Given the description of an element on the screen output the (x, y) to click on. 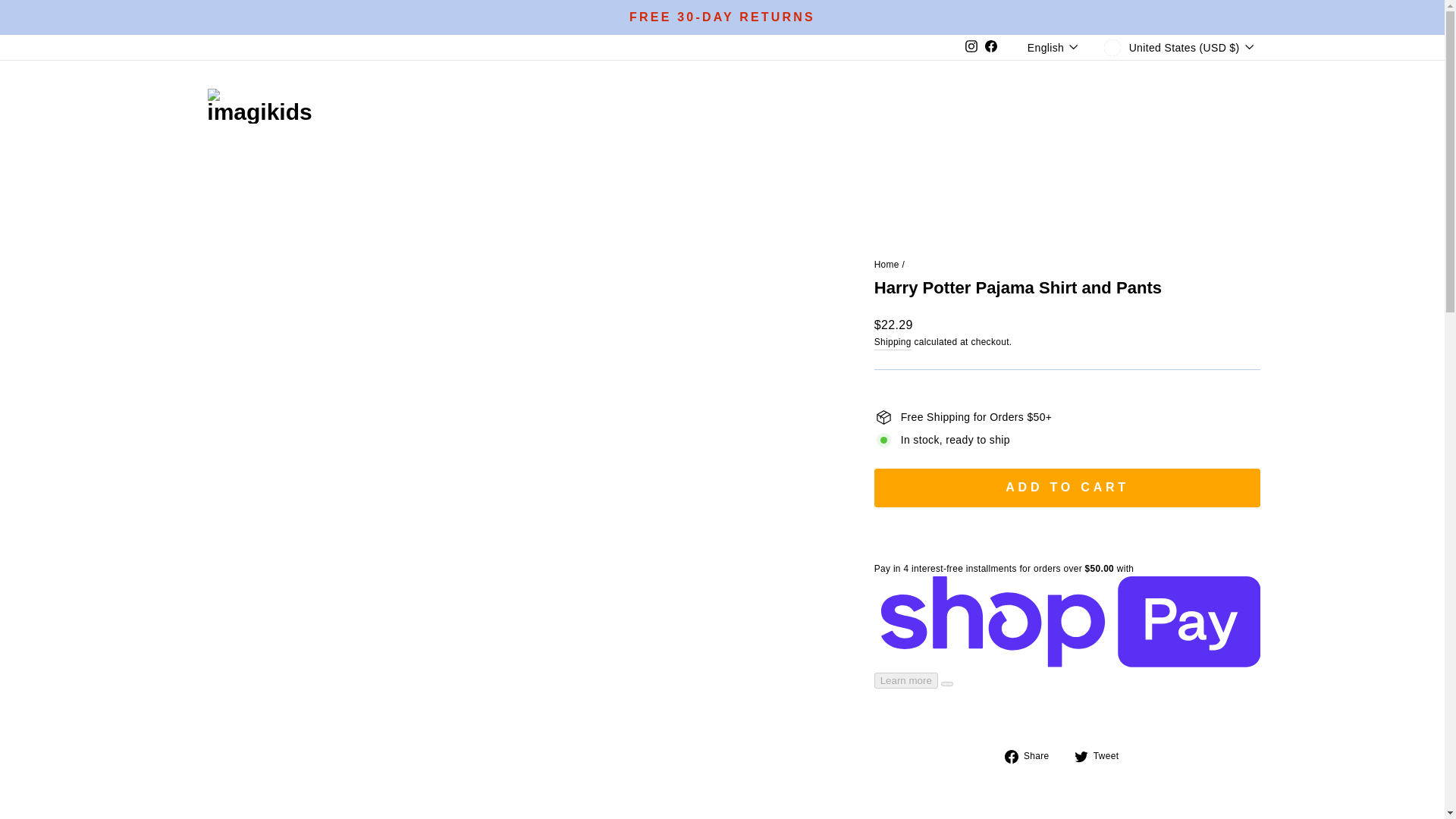
imagikids on Instagram (970, 47)
Back to the frontpage (887, 264)
imagikids on Facebook (991, 47)
Share on Facebook (1032, 754)
Tweet on Twitter (1102, 754)
